Given the description of an element on the screen output the (x, y) to click on. 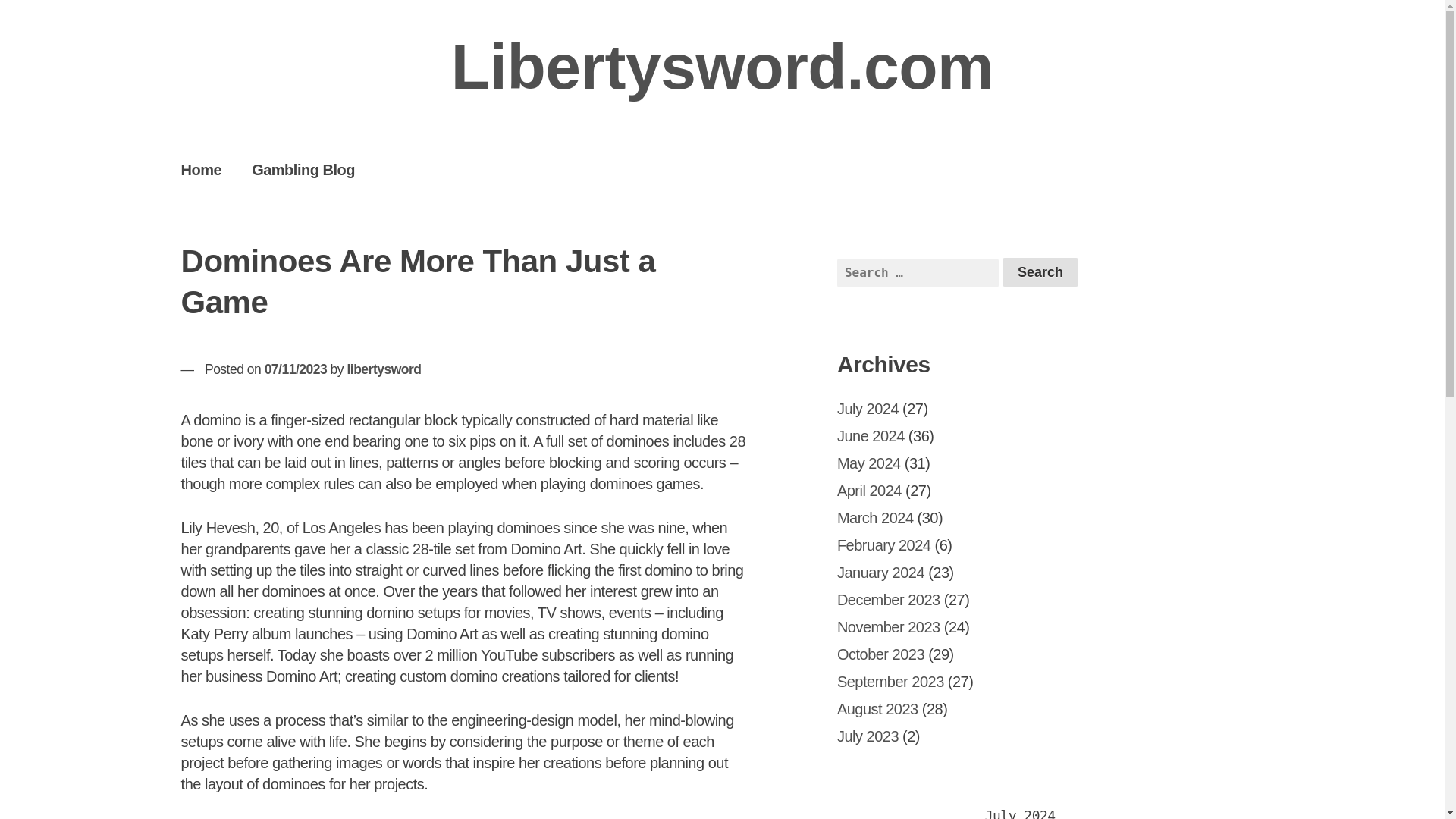
Search (1040, 271)
December 2023 (888, 599)
Libertysword.com (721, 66)
November 2023 (888, 627)
Home (201, 169)
January 2024 (880, 572)
October 2023 (880, 654)
April 2024 (869, 490)
July 2023 (867, 736)
Search (1040, 271)
June 2024 (870, 435)
Search (1040, 271)
Gambling Blog (302, 169)
August 2023 (877, 709)
September 2023 (890, 681)
